Given the description of an element on the screen output the (x, y) to click on. 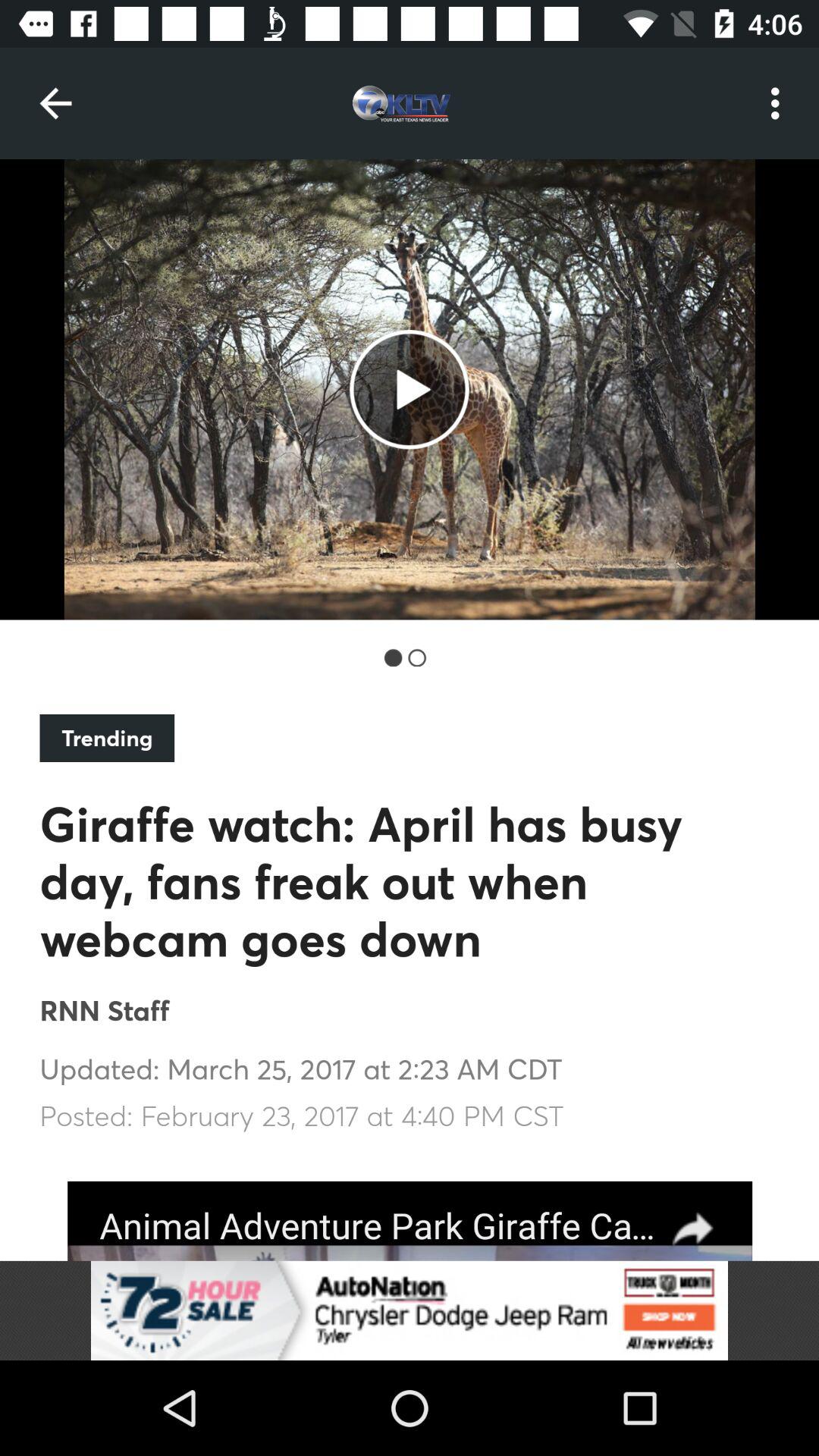
open share options (409, 1220)
